Given the description of an element on the screen output the (x, y) to click on. 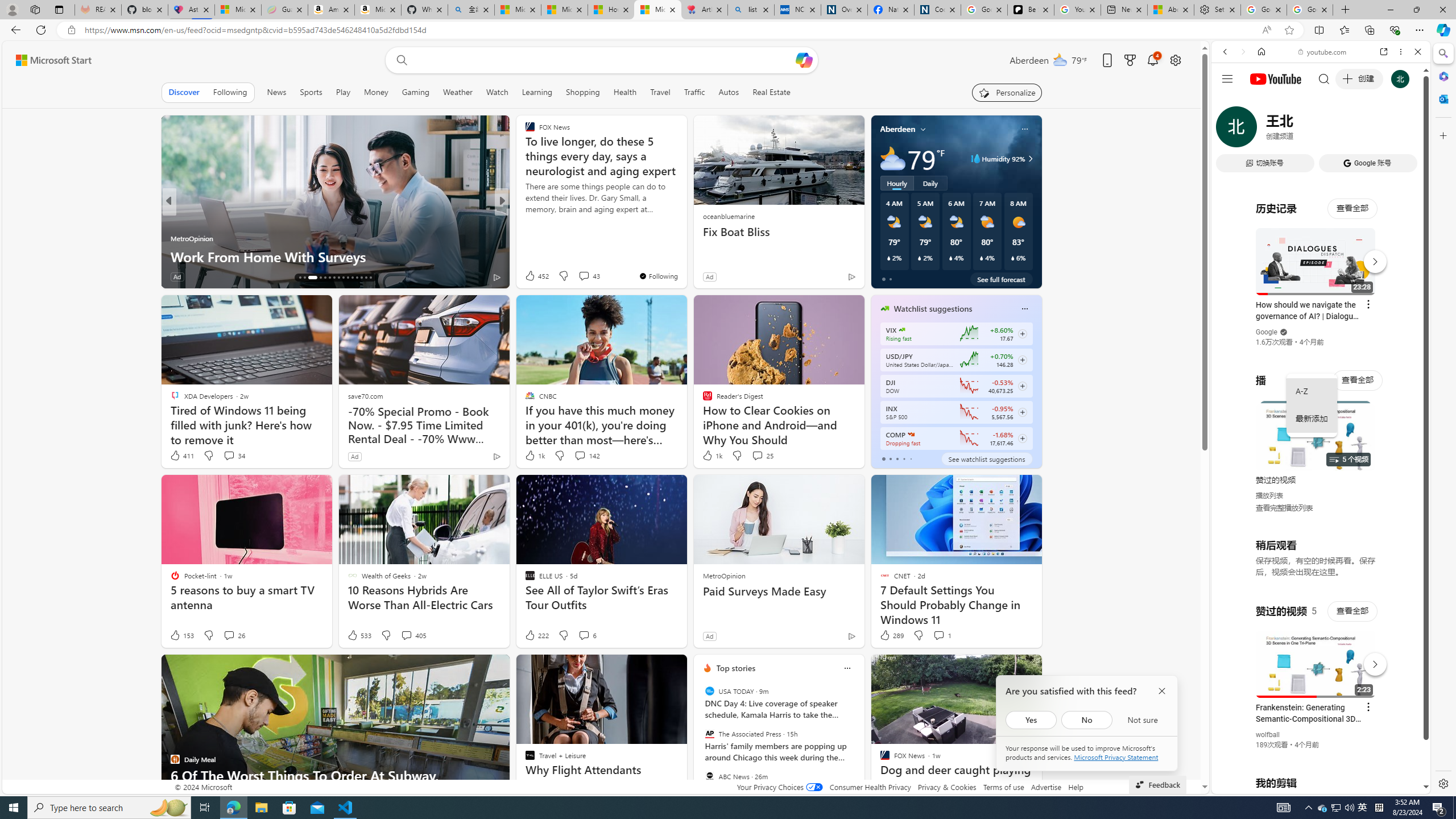
Paid Surveys Made Easy (778, 591)
ABC News (709, 775)
INSIDER (524, 219)
Microsoft Privacy Statement (1116, 756)
SEARCH TOOLS (1350, 130)
Search Filter, Search Tools (1350, 129)
YouTube - YouTube (1315, 560)
Advertise (1045, 786)
